Given the description of an element on the screen output the (x, y) to click on. 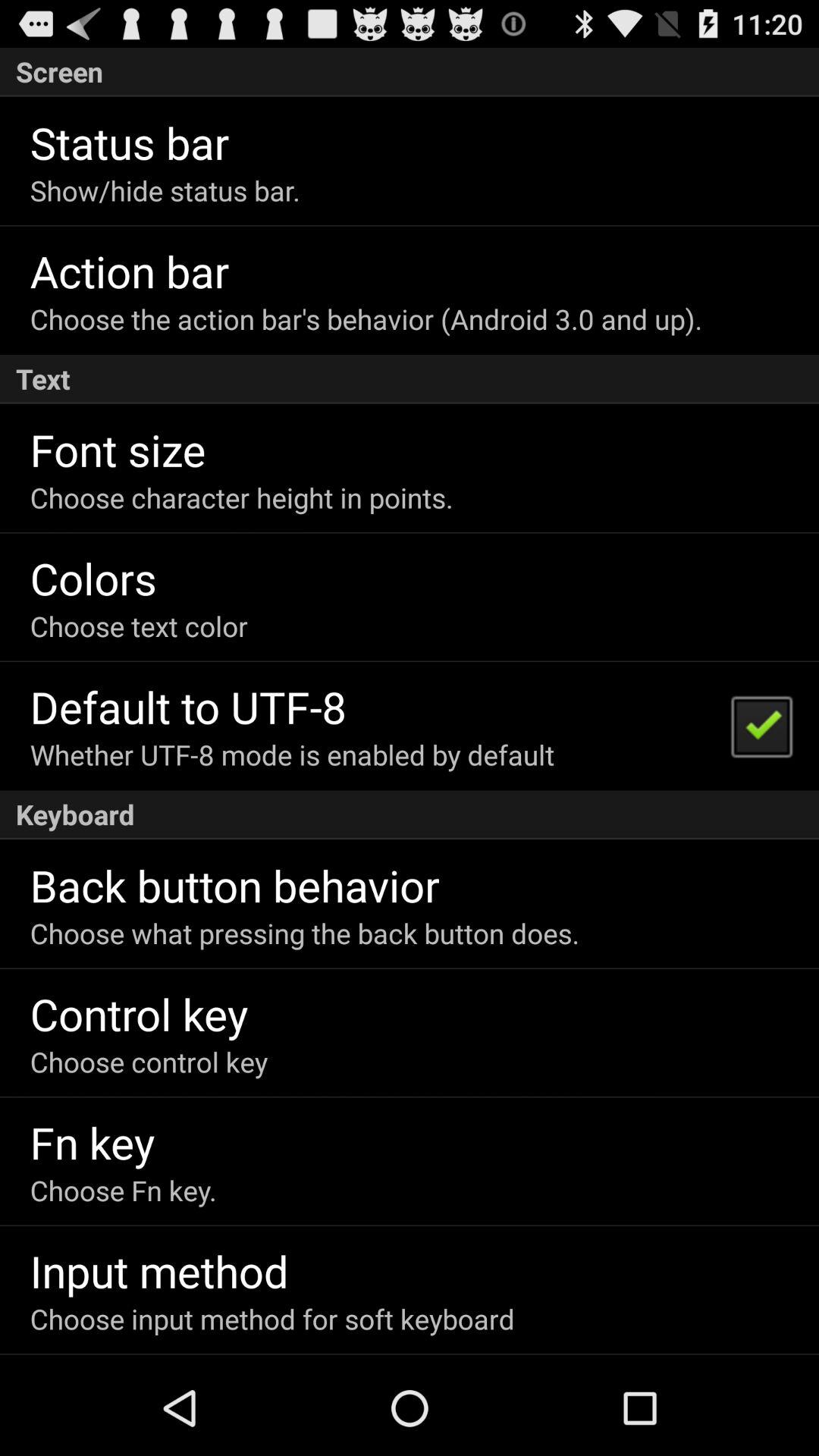
press the item next to the whether utf 8 (761, 725)
